Given the description of an element on the screen output the (x, y) to click on. 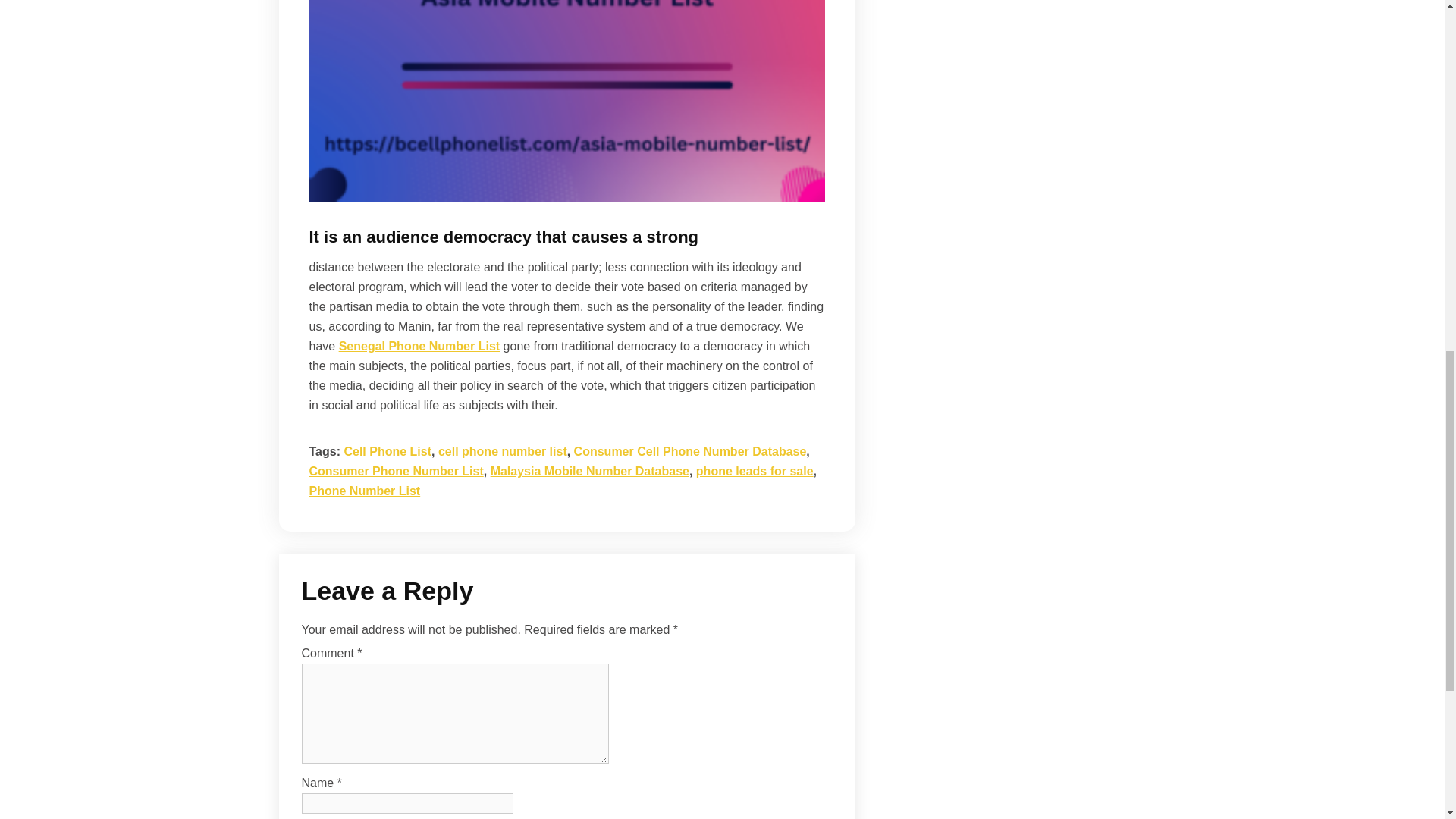
Cell Phone List (386, 451)
Consumer Cell Phone Number Database (689, 451)
cell phone number list (502, 451)
phone leads for sale (754, 471)
Consumer Phone Number List (395, 471)
Phone Number List (364, 490)
Malaysia Mobile Number Database (589, 471)
Senegal Phone Number List (419, 345)
